Given the description of an element on the screen output the (x, y) to click on. 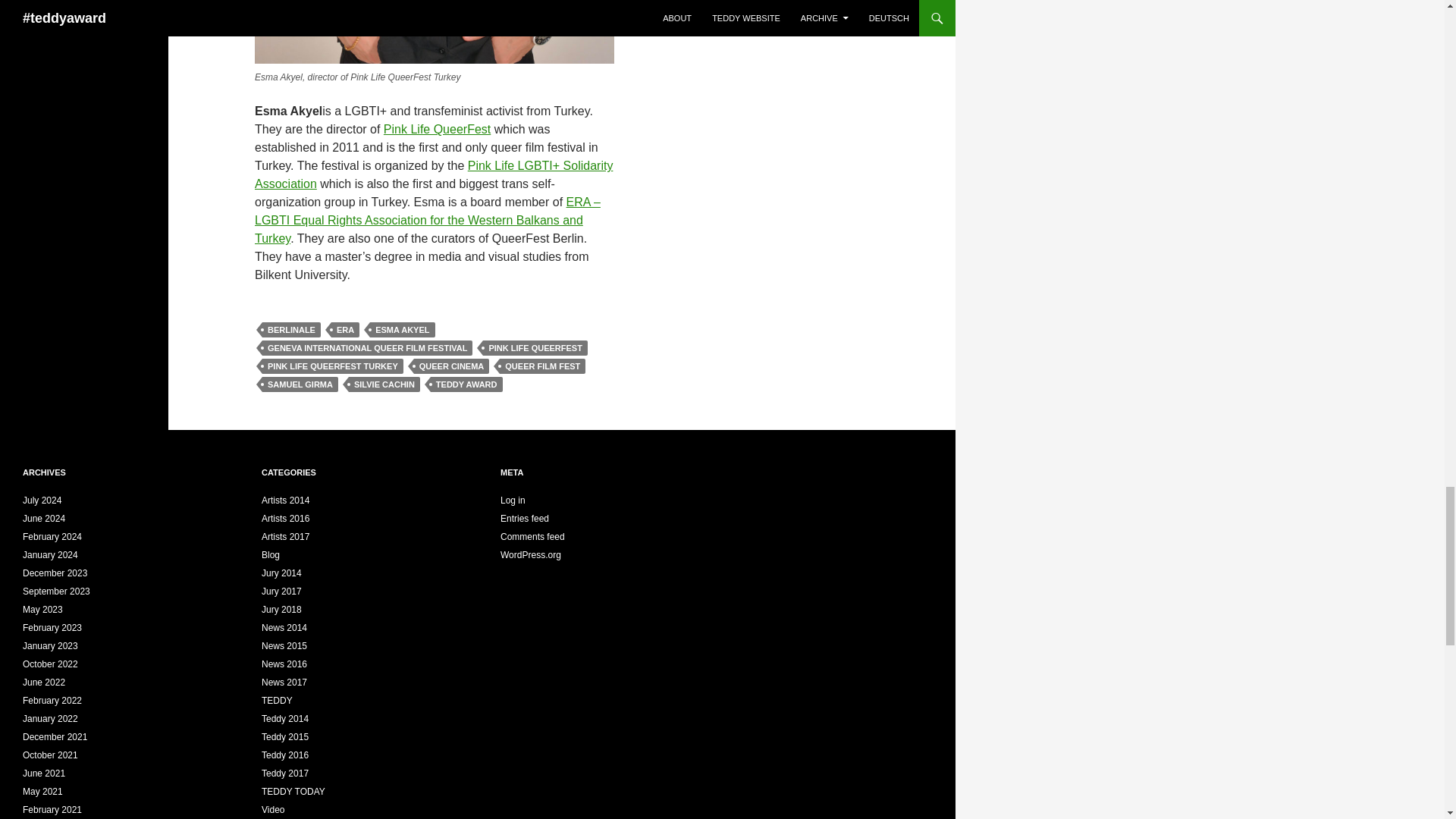
Pink Life QueerFest (437, 128)
BERLINALE (291, 329)
ERA (345, 329)
